Given the description of an element on the screen output the (x, y) to click on. 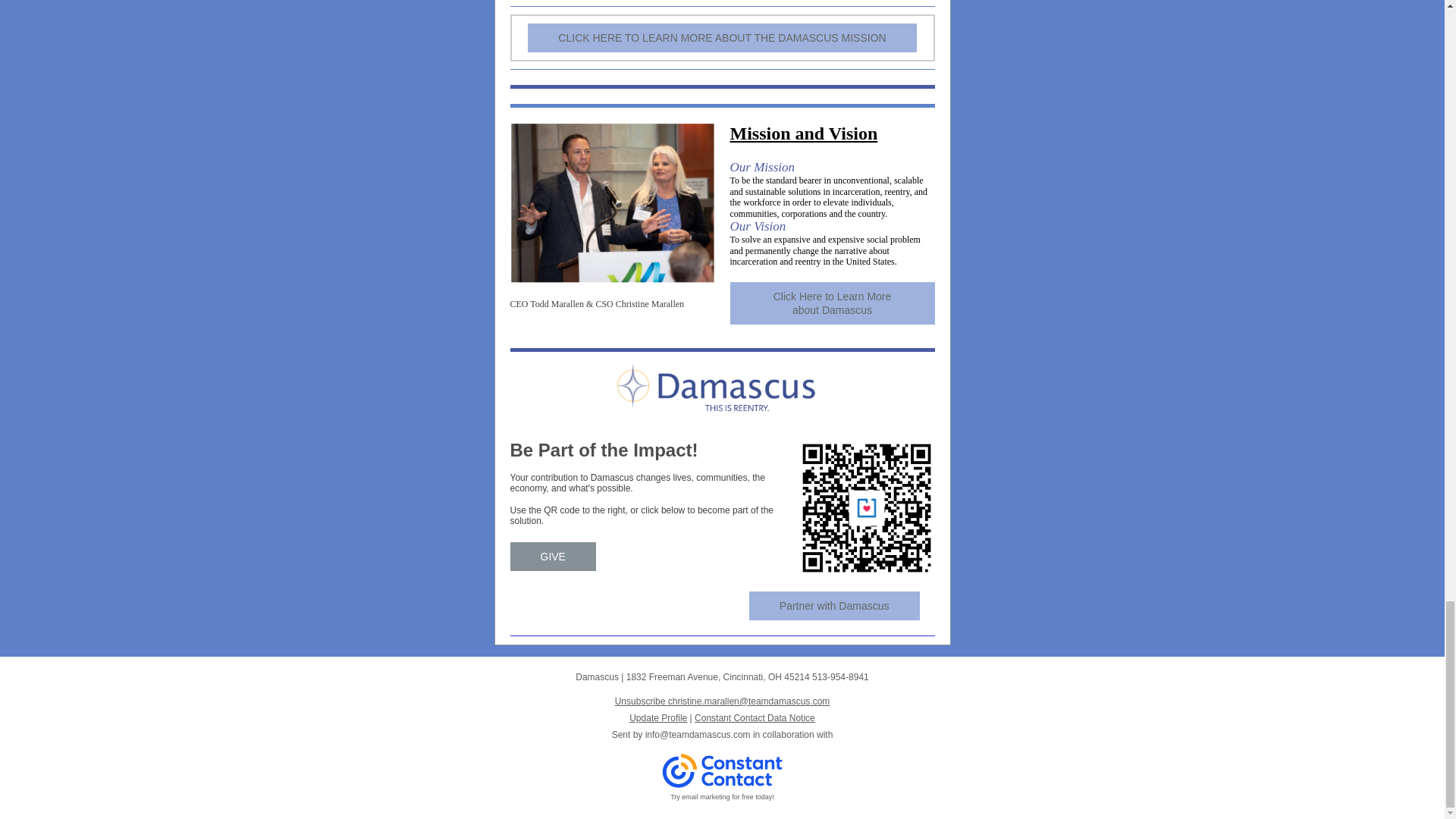
GIVE (552, 556)
Try email marketing for free today! (721, 796)
Update Profile (657, 717)
Click Here to Learn More about Damascus (832, 303)
Constant Contact Data Notice (754, 717)
Partner with Damascus (833, 604)
CLICK HERE TO LEARN MORE ABOUT THE DAMASCUS MISSION (721, 37)
